Given the description of an element on the screen output the (x, y) to click on. 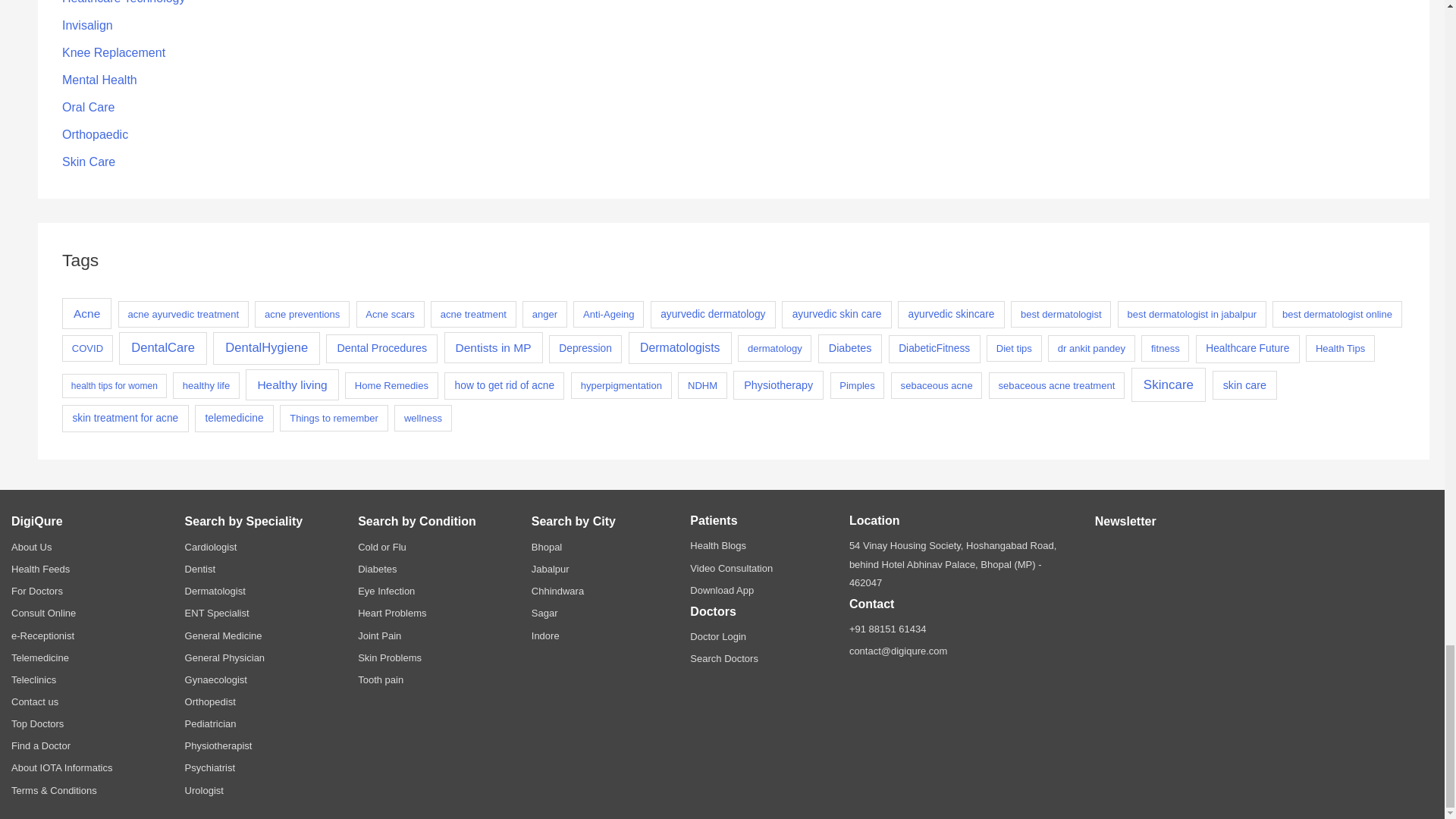
Find a Doctor (40, 745)
About IOTA Informatics (61, 767)
Telemedicine (39, 657)
Teleclinics (33, 679)
Top Doctors (37, 723)
Consult Online (43, 613)
For Doctors (36, 591)
About Us (30, 546)
Health Feeds (40, 568)
e-Receptionist (42, 635)
Health Blogs (717, 545)
Contact us (34, 701)
